Given the description of an element on the screen output the (x, y) to click on. 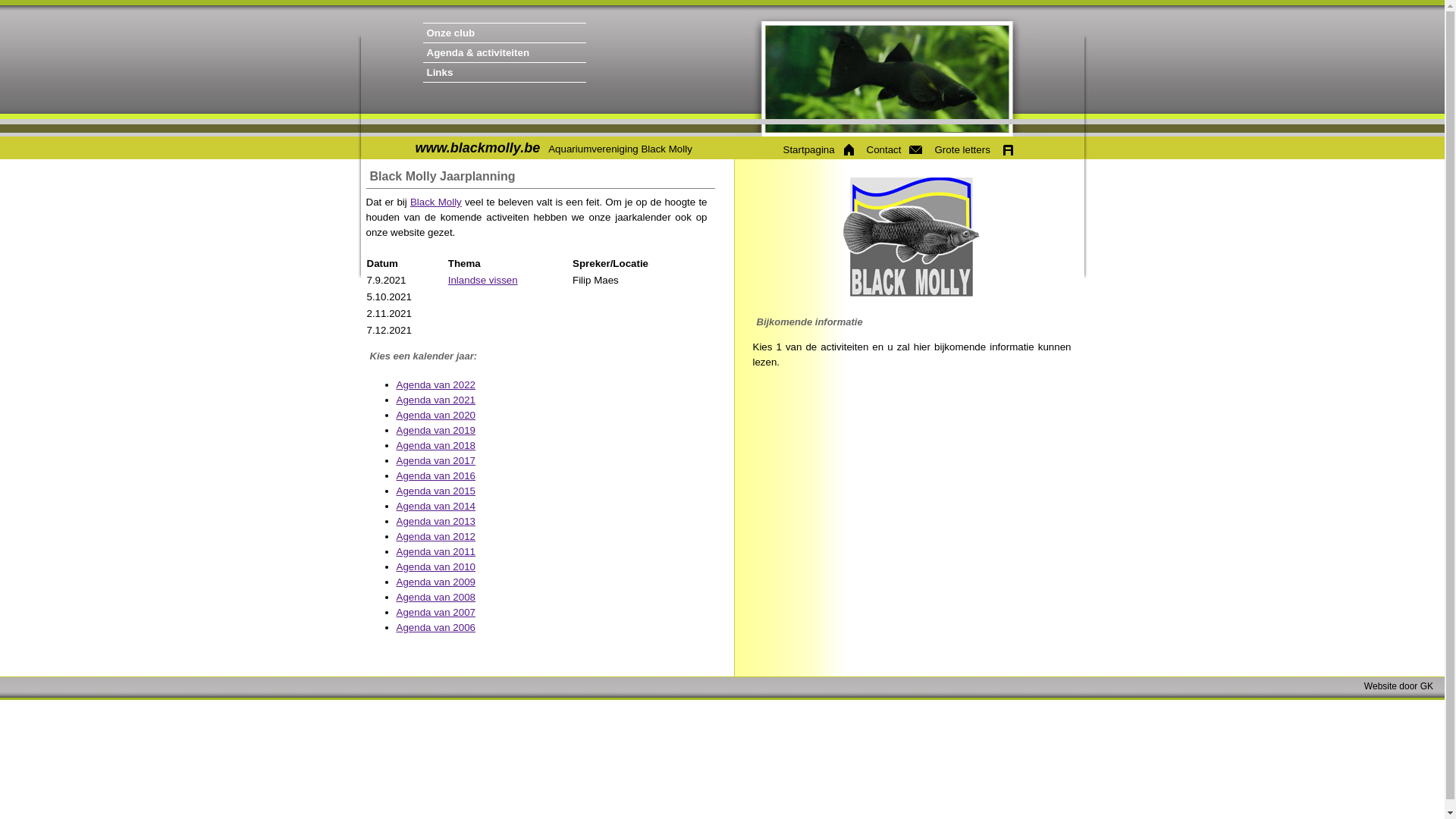
Agenda van 2022 Element type: text (435, 384)
Agenda van 2011 Element type: text (435, 551)
Agenda van 2008 Element type: text (435, 596)
Agenda van 2021 Element type: text (435, 399)
Agenda van 2018 Element type: text (435, 445)
Agenda & activiteiten Element type: text (544, 52)
Startpagina Element type: text (817, 149)
Agenda van 2016 Element type: text (435, 475)
Onze club Element type: text (544, 32)
Agenda van 2010 Element type: text (435, 566)
Agenda van 2009 Element type: text (435, 581)
Agenda van 2006 Element type: text (435, 627)
Black Molly Element type: text (435, 201)
Agenda van 2015 Element type: text (435, 490)
Agenda van 2014 Element type: text (435, 505)
Agenda van 2019 Element type: text (435, 430)
Agenda van 2017 Element type: text (435, 460)
Agenda van 2020 Element type: text (435, 414)
AV Black Molly Element type: hover (911, 237)
Inlandse vissen Element type: text (482, 279)
Agenda van 2012 Element type: text (435, 536)
Agenda van 2007 Element type: text (435, 612)
Contact Element type: text (892, 149)
Grote letters Element type: text (972, 149)
Links Element type: text (544, 71)
Agenda van 2013 Element type: text (435, 521)
www.blackmolly.be Element type: text (477, 147)
